Given the description of an element on the screen output the (x, y) to click on. 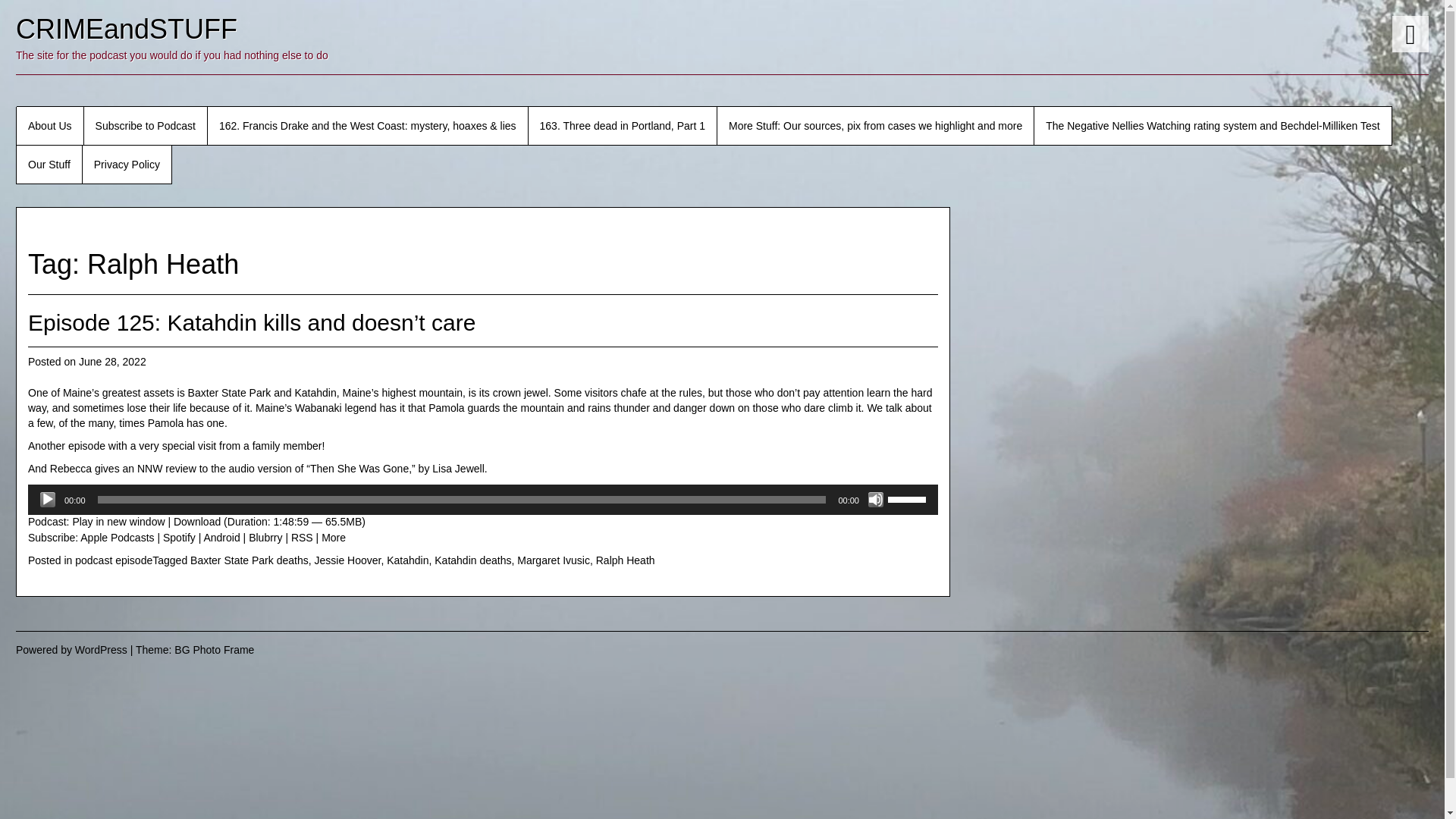
Swich to Photoframe Mode (1409, 33)
Subscribe on Android (221, 537)
Download (197, 521)
June 28, 2022 (112, 361)
Katahdin (407, 560)
Margaret Ivusic (552, 560)
Play in new window (117, 521)
Subscribe to Podcast (146, 125)
Our Stuff (49, 164)
